Given the description of an element on the screen output the (x, y) to click on. 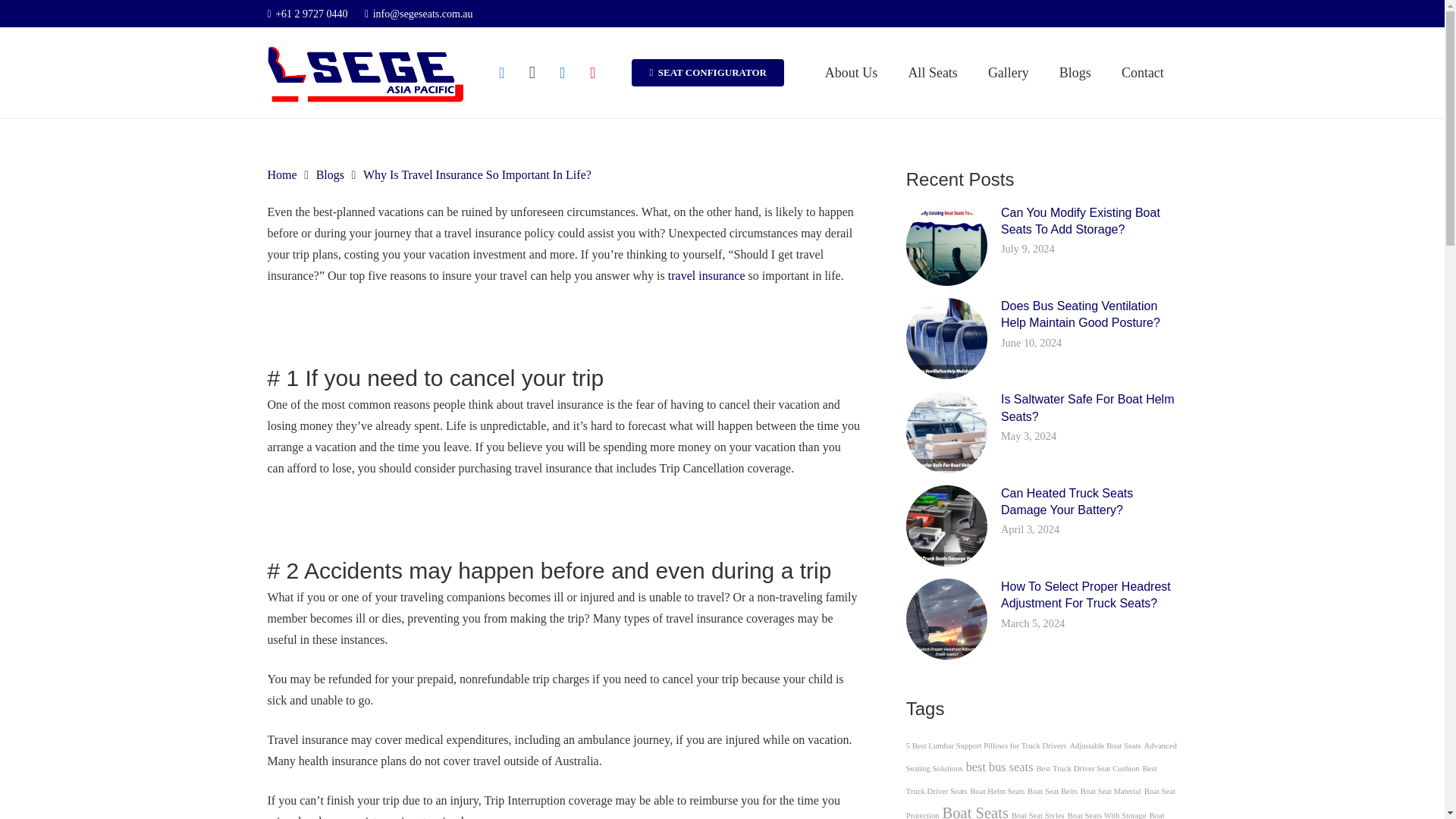
travel insurance (706, 275)
Why Is Travel Insurance So Important In Life? (476, 174)
About Us (851, 72)
LinkedIn (562, 72)
Home (281, 174)
Instagram (531, 72)
Facebook (501, 72)
Blogs (329, 174)
SEAT CONFIGURATOR (707, 72)
YouTube (593, 72)
